Given the description of an element on the screen output the (x, y) to click on. 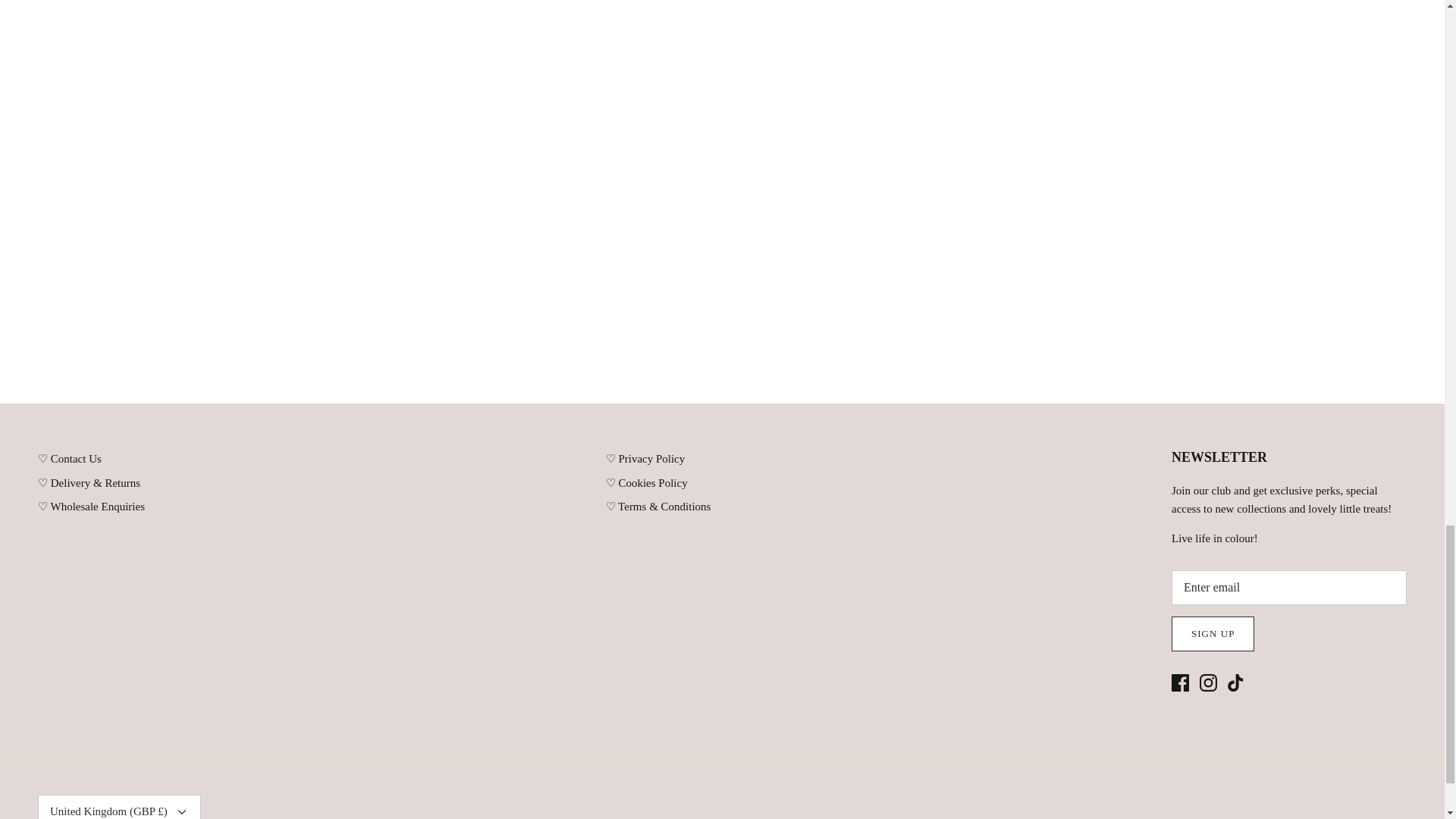
Facebook (1180, 682)
Instagram (1208, 682)
Down (181, 812)
